Given the description of an element on the screen output the (x, y) to click on. 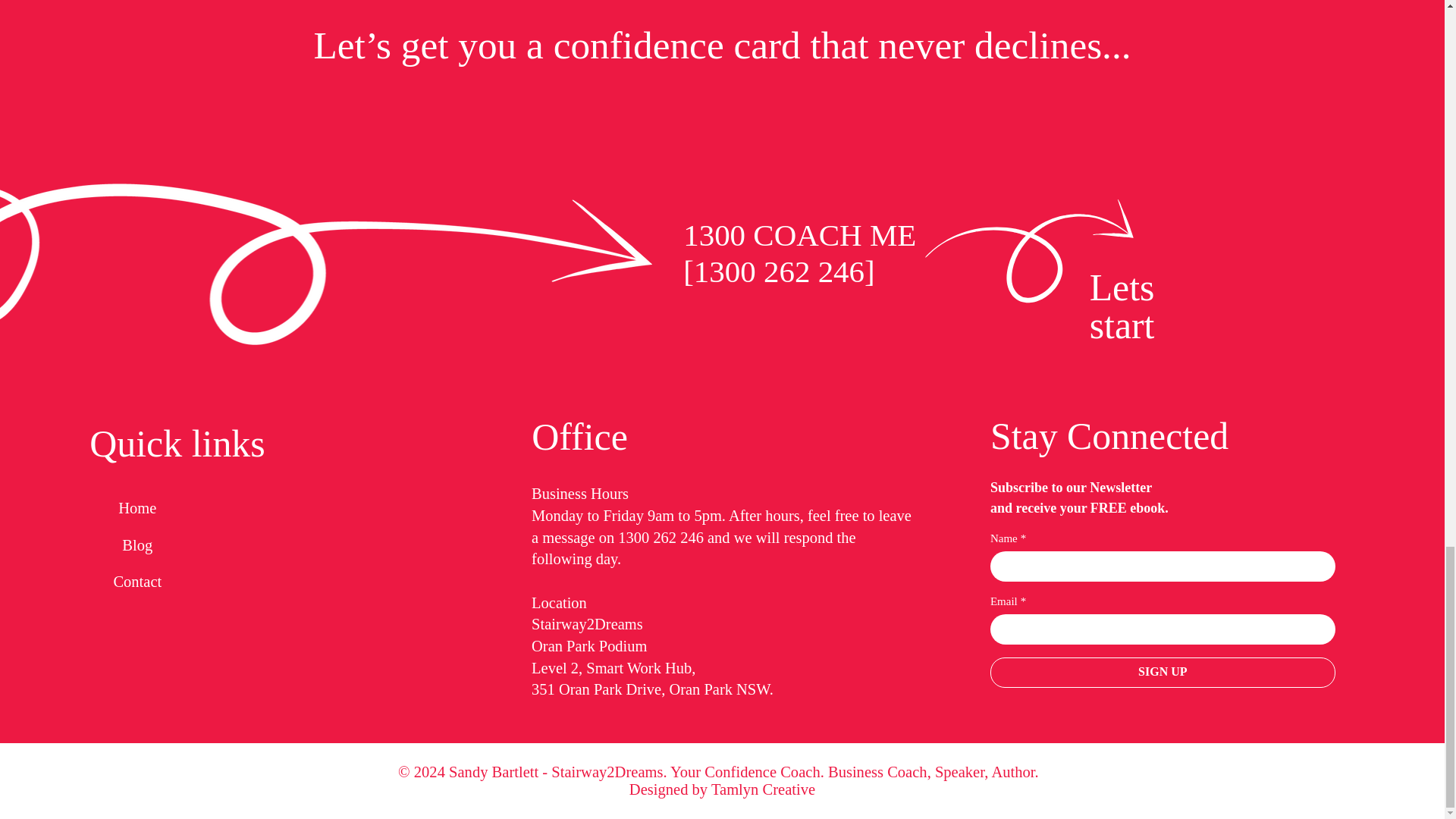
Tamlyn Creative (763, 789)
Blog (136, 469)
Home (136, 432)
Contact (136, 505)
SIGN UP (1162, 596)
